Given the description of an element on the screen output the (x, y) to click on. 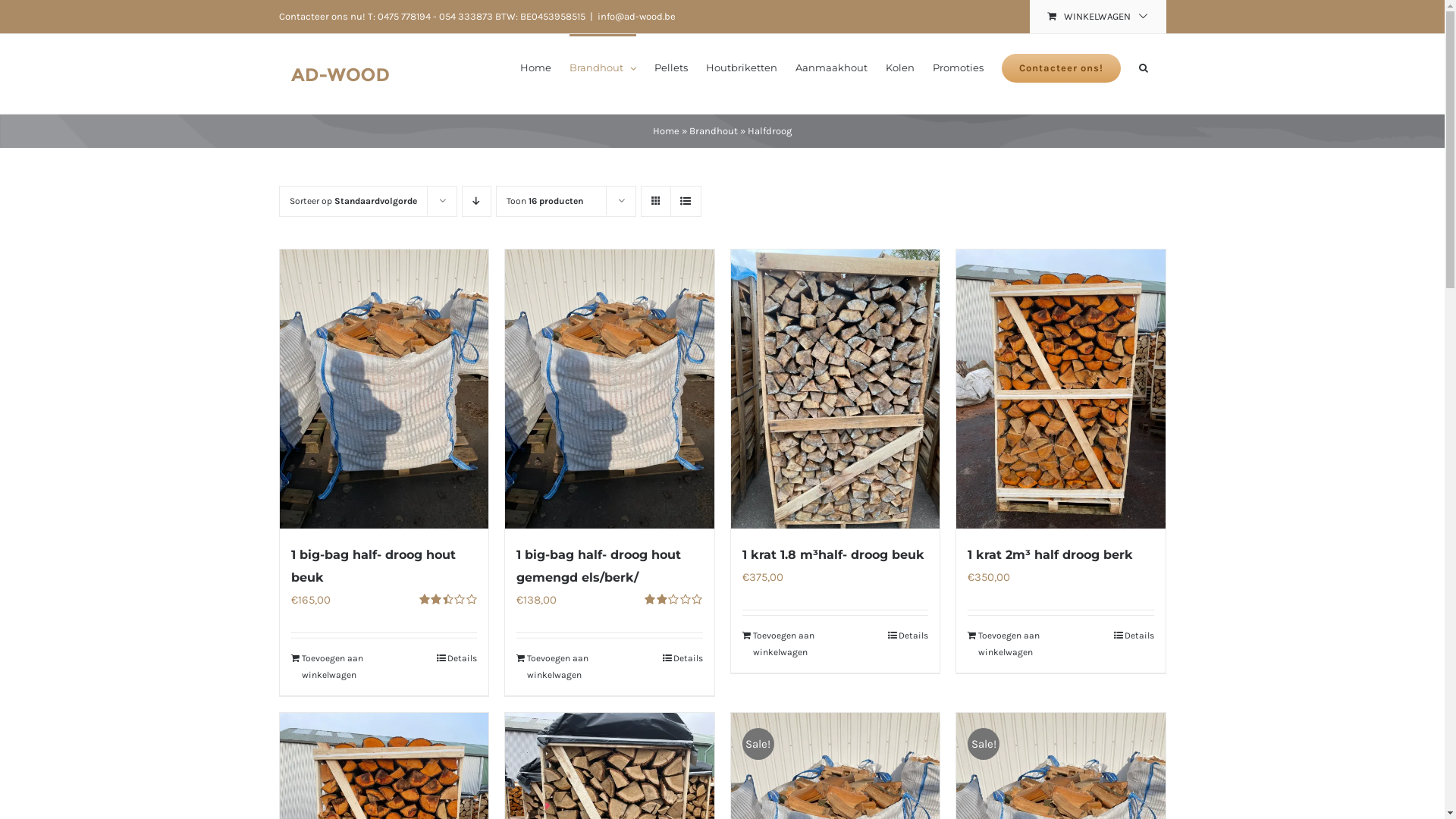
Details Element type: text (908, 635)
Details Element type: text (456, 657)
Toevoegen aan winkelwagen Element type: text (561, 666)
Pellets Element type: text (670, 66)
WINKELWAGEN Element type: text (1097, 16)
Aanmaakhout Element type: text (830, 66)
Details Element type: text (682, 657)
1 big-bag half- droog hout gemengd els/berk/ Element type: text (598, 565)
Houtbriketten Element type: text (740, 66)
Toevoegen aan winkelwagen Element type: text (336, 666)
1 big-bag half- droog hout beuk Element type: text (373, 565)
Home Element type: text (665, 130)
Zoeken Element type: hover (1143, 66)
Kolen Element type: text (899, 66)
Sorteer op Standaardvolgorde Element type: text (353, 200)
Toevoegen aan winkelwagen Element type: text (1012, 644)
Promoties Element type: text (957, 66)
Toevoegen aan winkelwagen Element type: text (786, 644)
Brandhout Element type: text (601, 66)
Contacteer ons! Element type: text (1060, 66)
Toon 16 producten Element type: text (544, 200)
Home Element type: text (535, 66)
Details Element type: text (1133, 635)
info@ad-wood.be Element type: text (636, 15)
Brandhout Element type: text (713, 130)
